Given the description of an element on the screen output the (x, y) to click on. 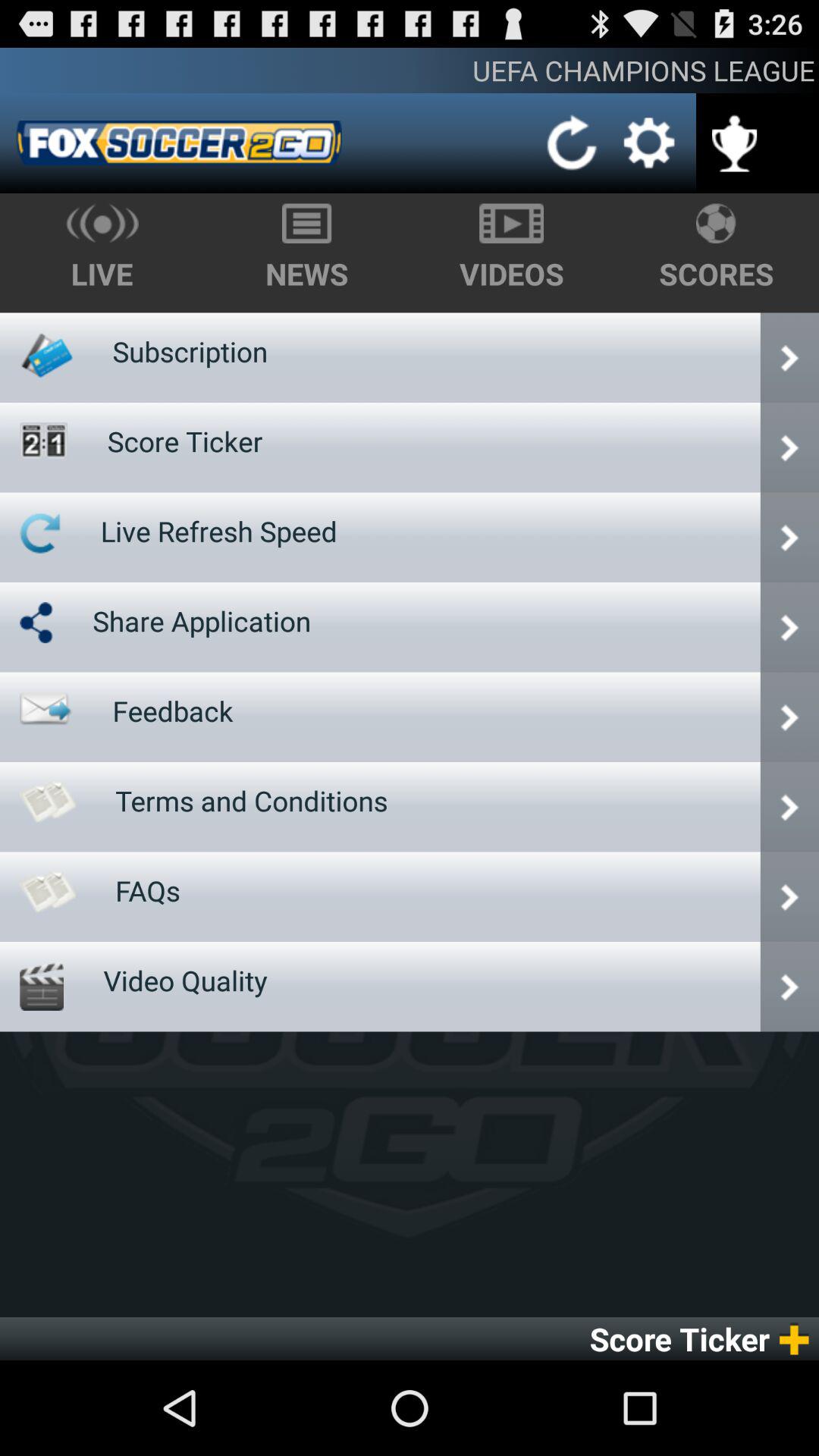
turn on item next to videos app (189, 351)
